Given the description of an element on the screen output the (x, y) to click on. 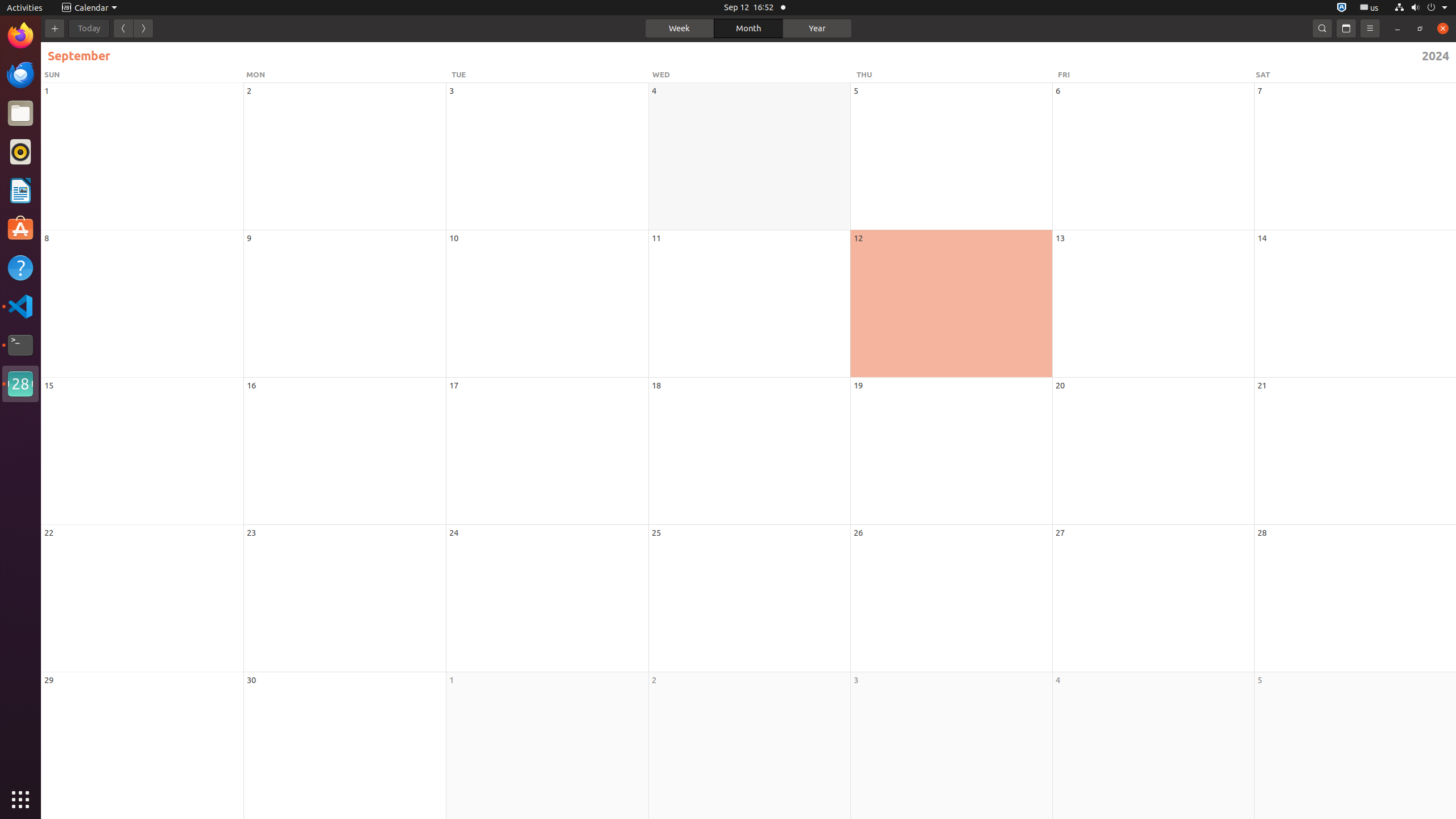
Trash Element type: label (75, 108)
29 Element type: label (48, 679)
SUN Element type: label (143, 74)
li.txt Element type: label (146, 50)
